Given the description of an element on the screen output the (x, y) to click on. 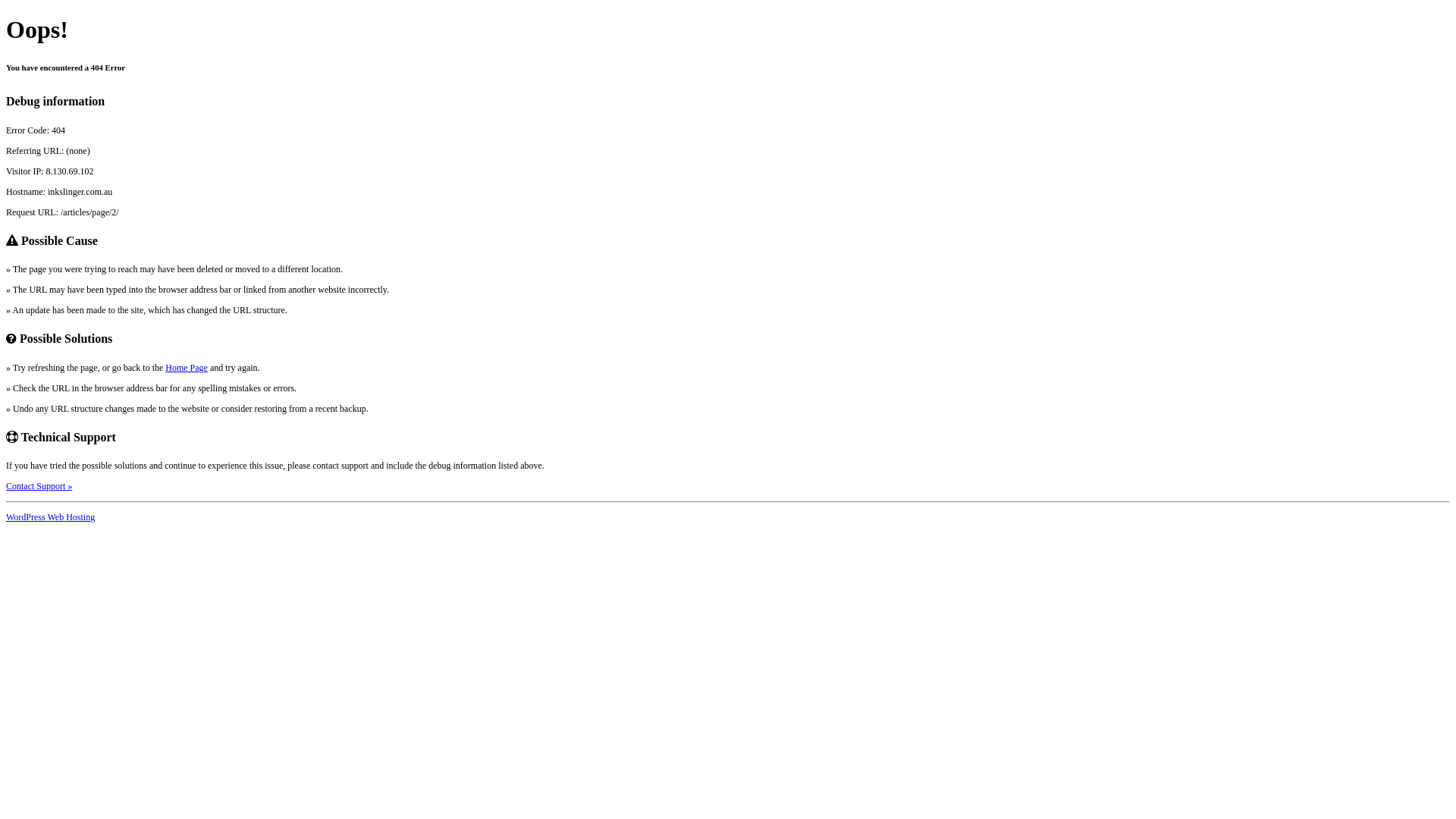
WordPress Web Hosting Element type: text (50, 516)
Home Page Element type: text (186, 367)
